Given the description of an element on the screen output the (x, y) to click on. 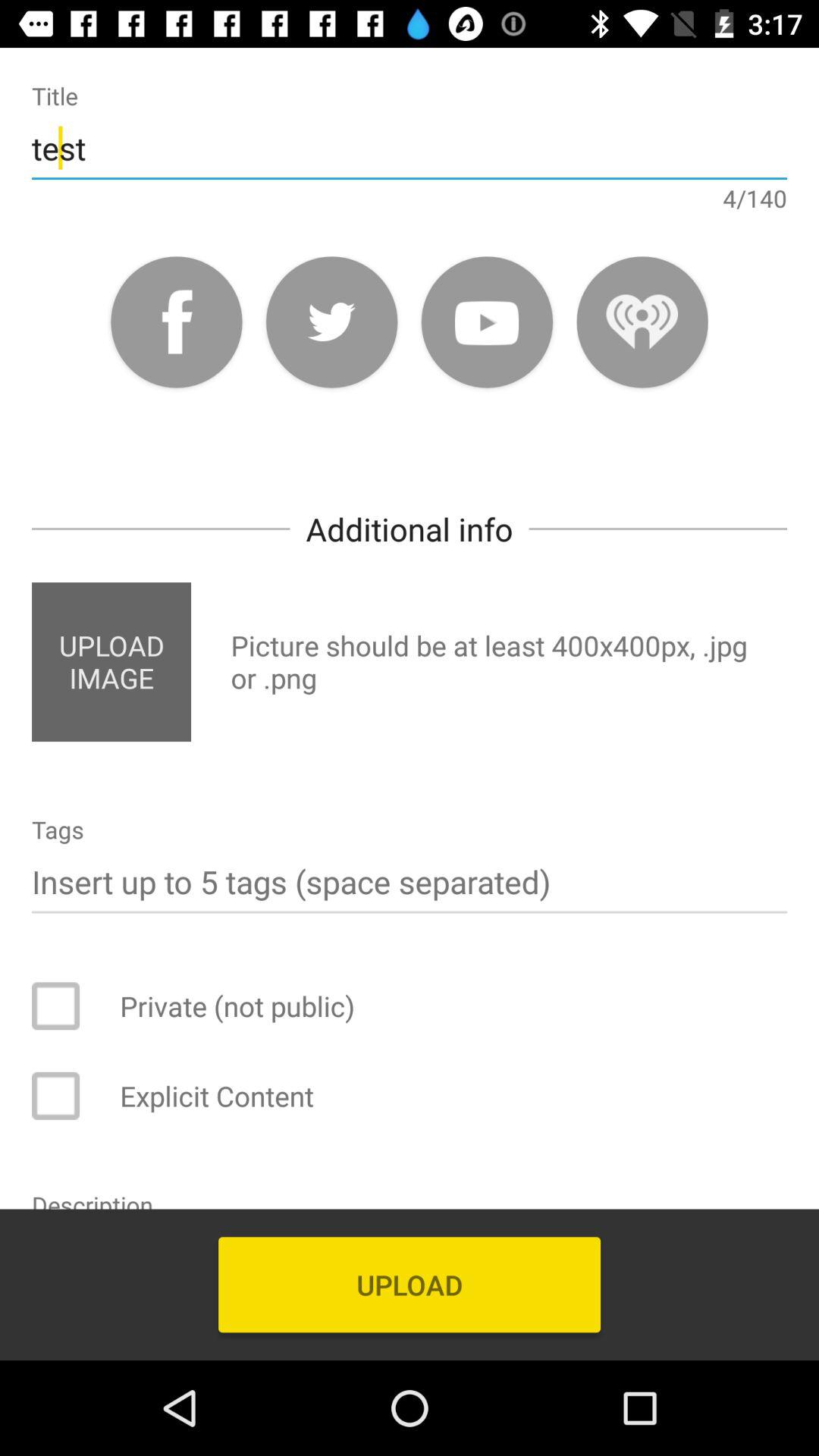
youtube launch icon (486, 321)
